Given the description of an element on the screen output the (x, y) to click on. 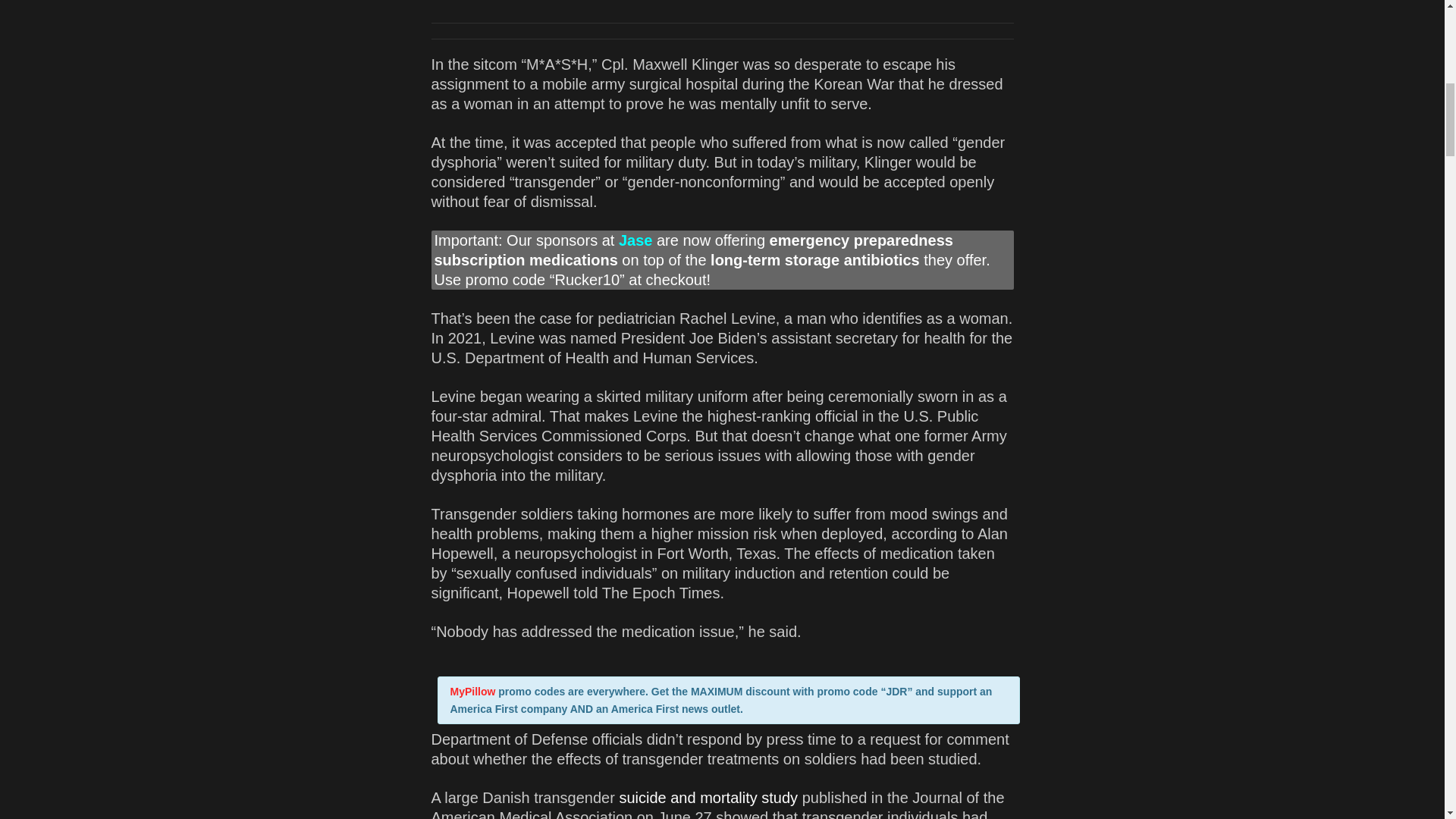
suicide and mortality study (707, 797)
Jase (635, 239)
MyPillow (472, 691)
